Given the description of an element on the screen output the (x, y) to click on. 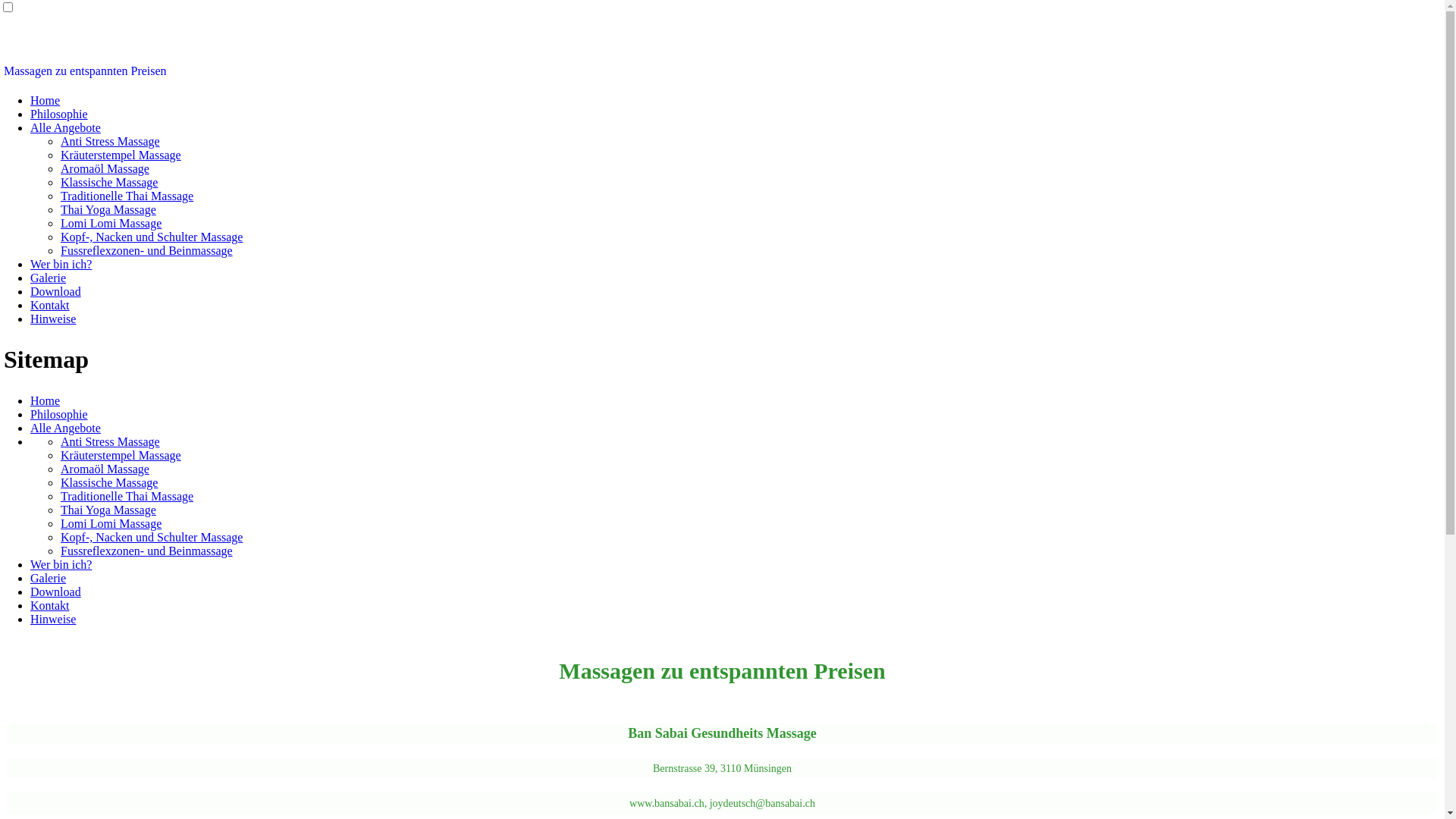
Traditionelle Thai Massage Element type: text (126, 195)
Fussreflexzonen- und Beinmassage Element type: text (146, 250)
Lomi Lomi Massage Element type: text (110, 523)
Home Element type: text (44, 400)
Fussreflexzonen- und Beinmassage Element type: text (146, 550)
Hinweise Element type: text (52, 318)
Philosophie Element type: text (58, 413)
Klassische Massage Element type: text (108, 181)
Klassische Massage Element type: text (108, 482)
Kontakt Element type: text (49, 304)
Anti Stress Massage Element type: text (110, 441)
Download Element type: text (55, 291)
Lomi Lomi Massage Element type: text (110, 222)
Anti Stress Massage Element type: text (110, 140)
Galerie Element type: text (47, 277)
Kopf-, Nacken und Schulter Massage Element type: text (151, 236)
Philosophie Element type: text (58, 113)
Download Element type: text (55, 591)
Galerie Element type: text (47, 577)
Massagen zu entspannten Preisen Element type: text (84, 70)
Home Element type: text (44, 100)
Kontakt Element type: text (49, 605)
Thai Yoga Massage Element type: text (108, 209)
Alle Angebote Element type: text (65, 427)
Wer bin ich? Element type: text (60, 564)
Traditionelle Thai Massage Element type: text (126, 495)
Wer bin ich? Element type: text (60, 263)
Kopf-, Nacken und Schulter Massage Element type: text (151, 536)
Thai Yoga Massage Element type: text (108, 509)
Hinweise Element type: text (52, 618)
Alle Angebote Element type: text (65, 127)
